Given the description of an element on the screen output the (x, y) to click on. 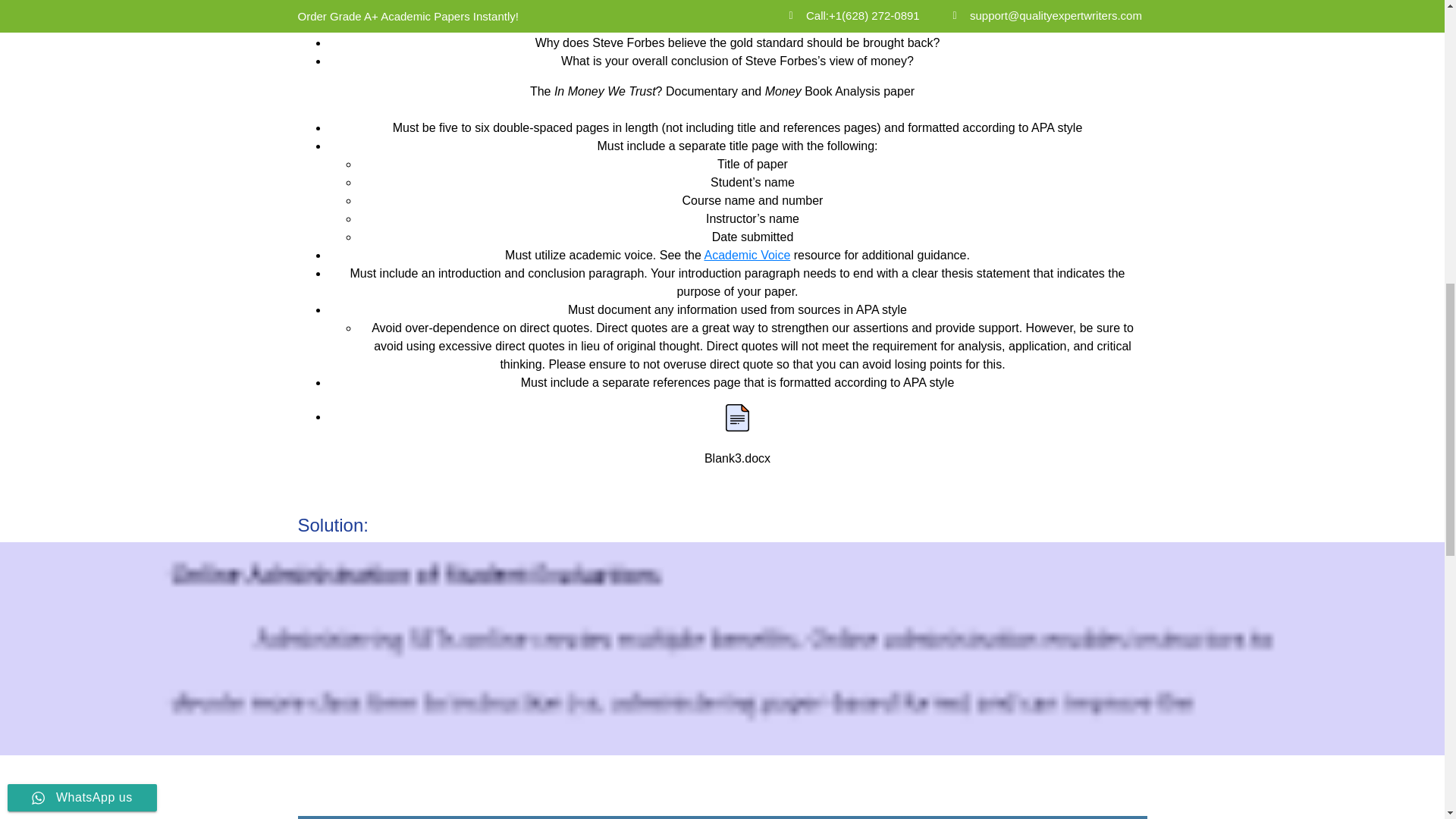
Academic Voice (746, 254)
